Given the description of an element on the screen output the (x, y) to click on. 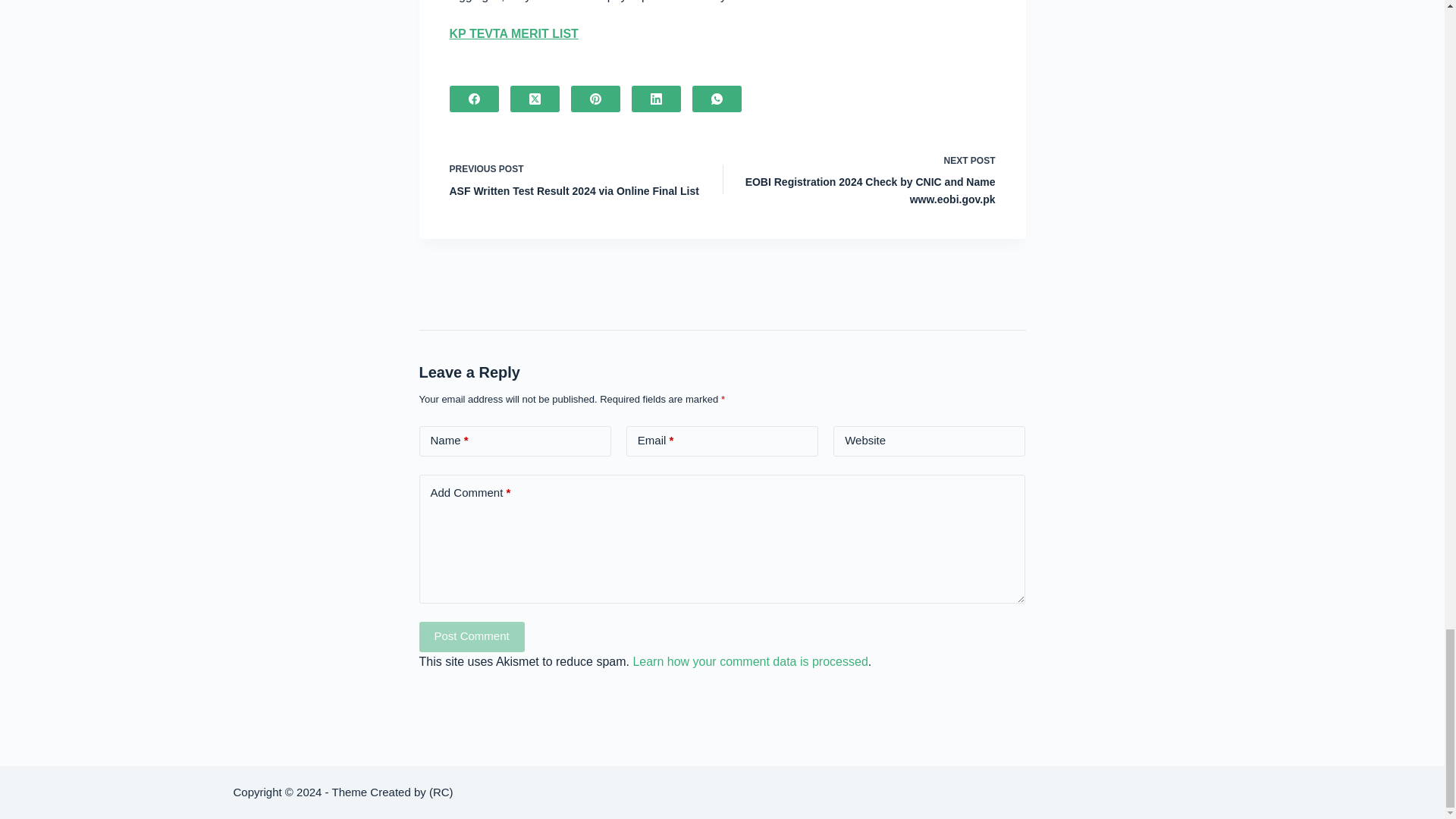
KP TEVTA MERIT LIST (513, 33)
